Given the description of an element on the screen output the (x, y) to click on. 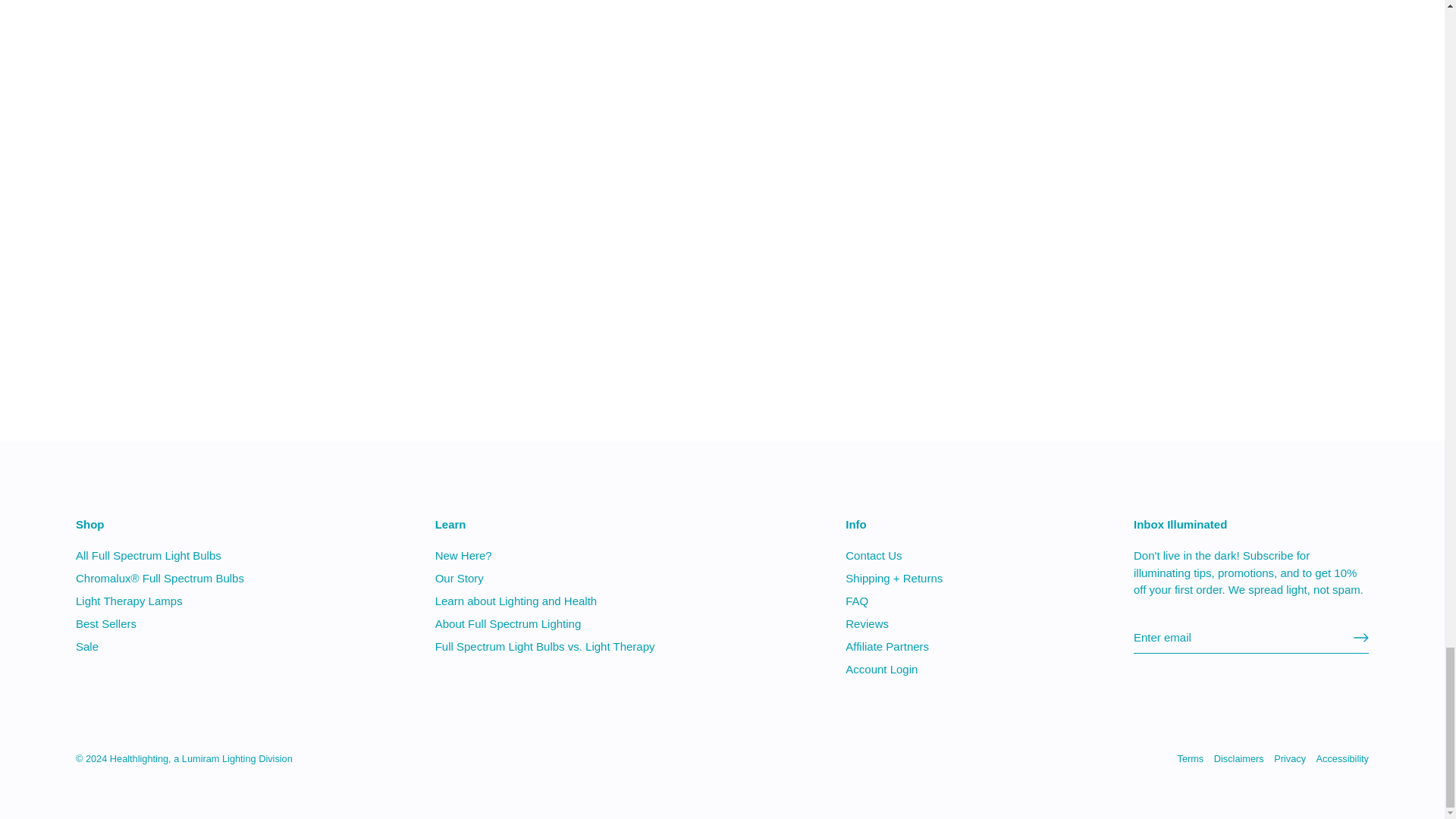
RIGHT ARROW LONG (1361, 637)
